Given the description of an element on the screen output the (x, y) to click on. 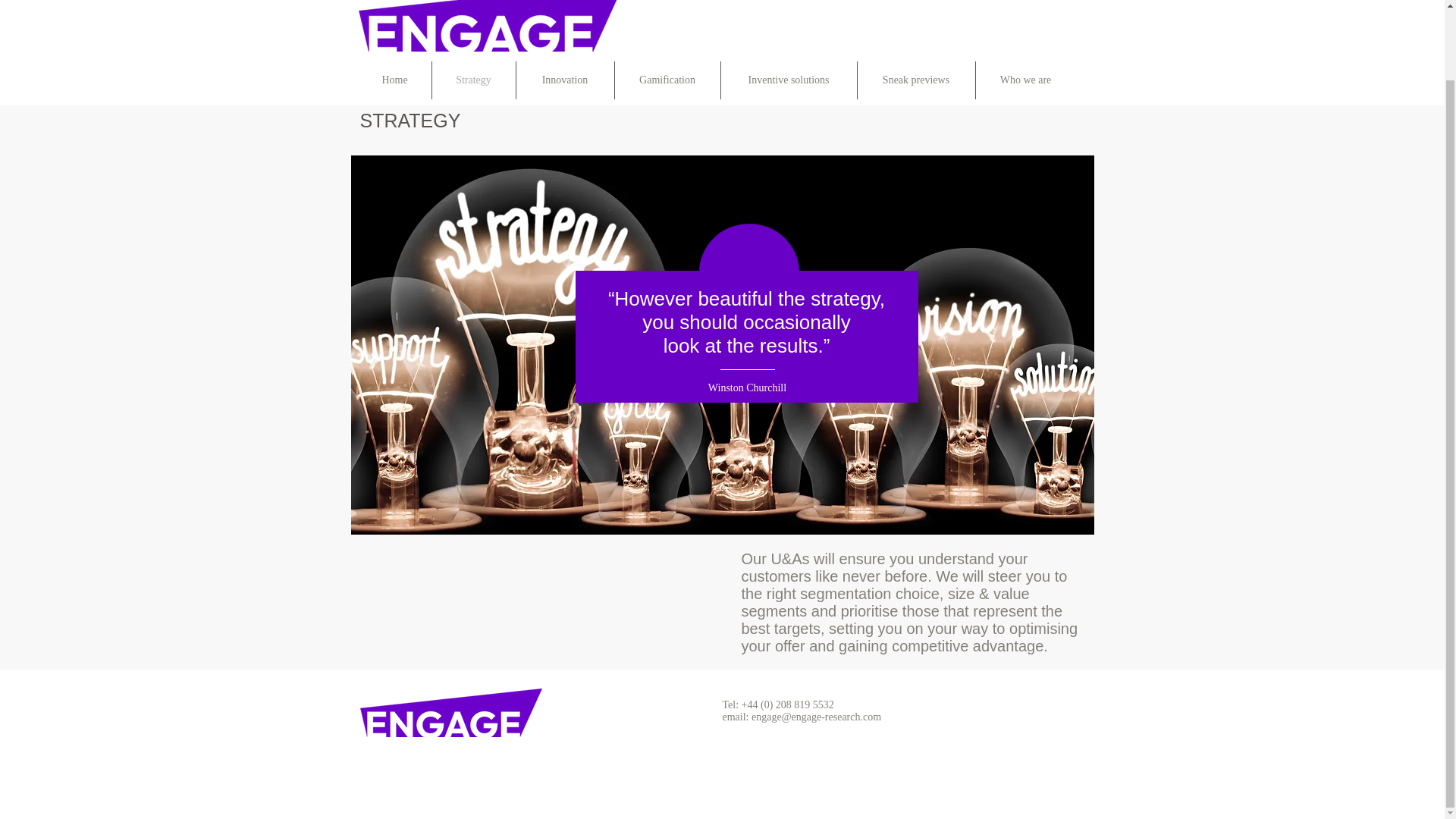
engag elogo.png (491, 25)
Innovation (563, 80)
Gamification (666, 80)
Who we are (1025, 80)
Home (394, 80)
engag elogo.png (450, 712)
Sneak previews (915, 80)
Inventive solutions (788, 80)
Strategy (473, 80)
